Given the description of an element on the screen output the (x, y) to click on. 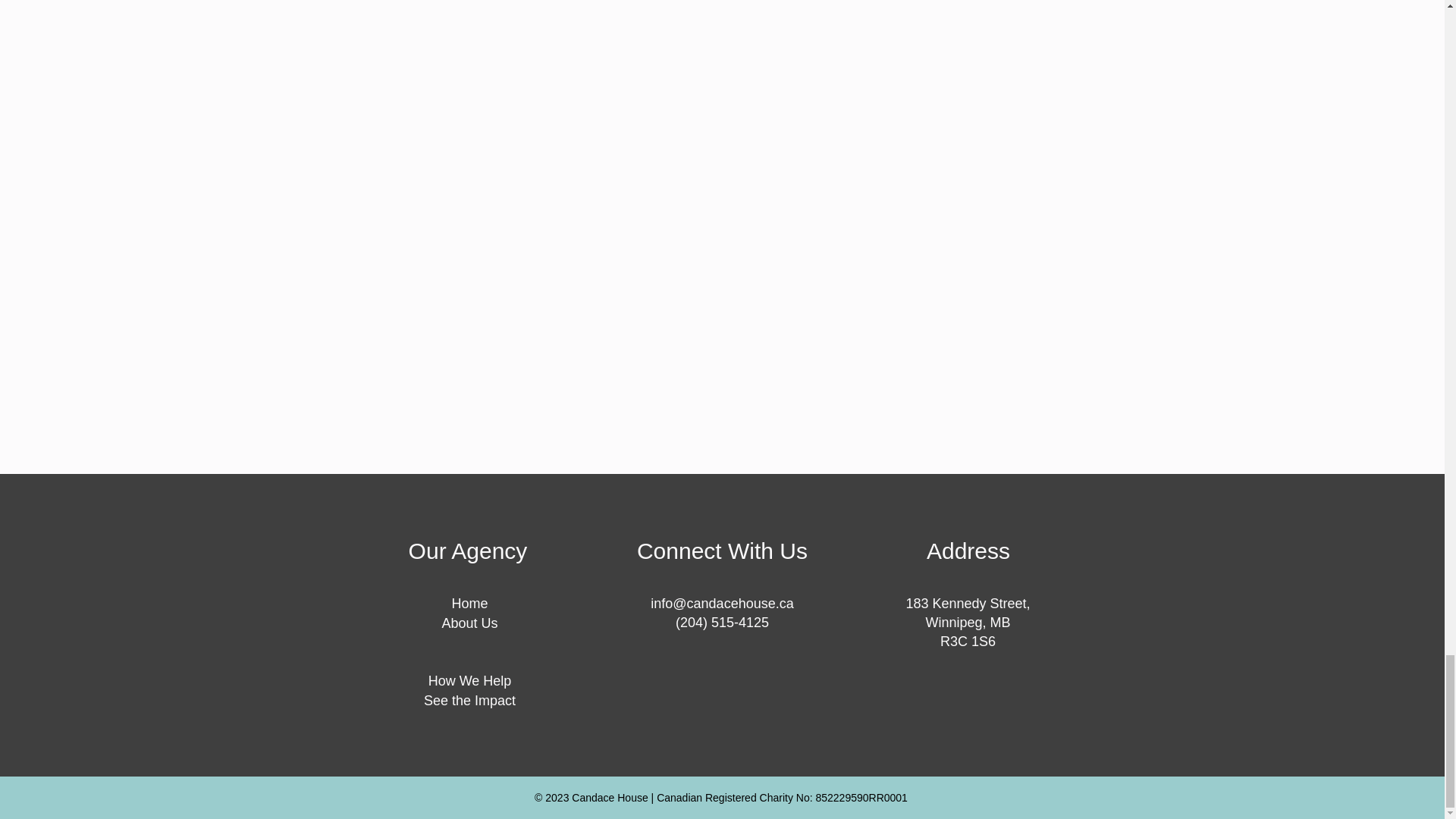
About Us (469, 622)
Home (469, 603)
How We Help (470, 680)
